Given the description of an element on the screen output the (x, y) to click on. 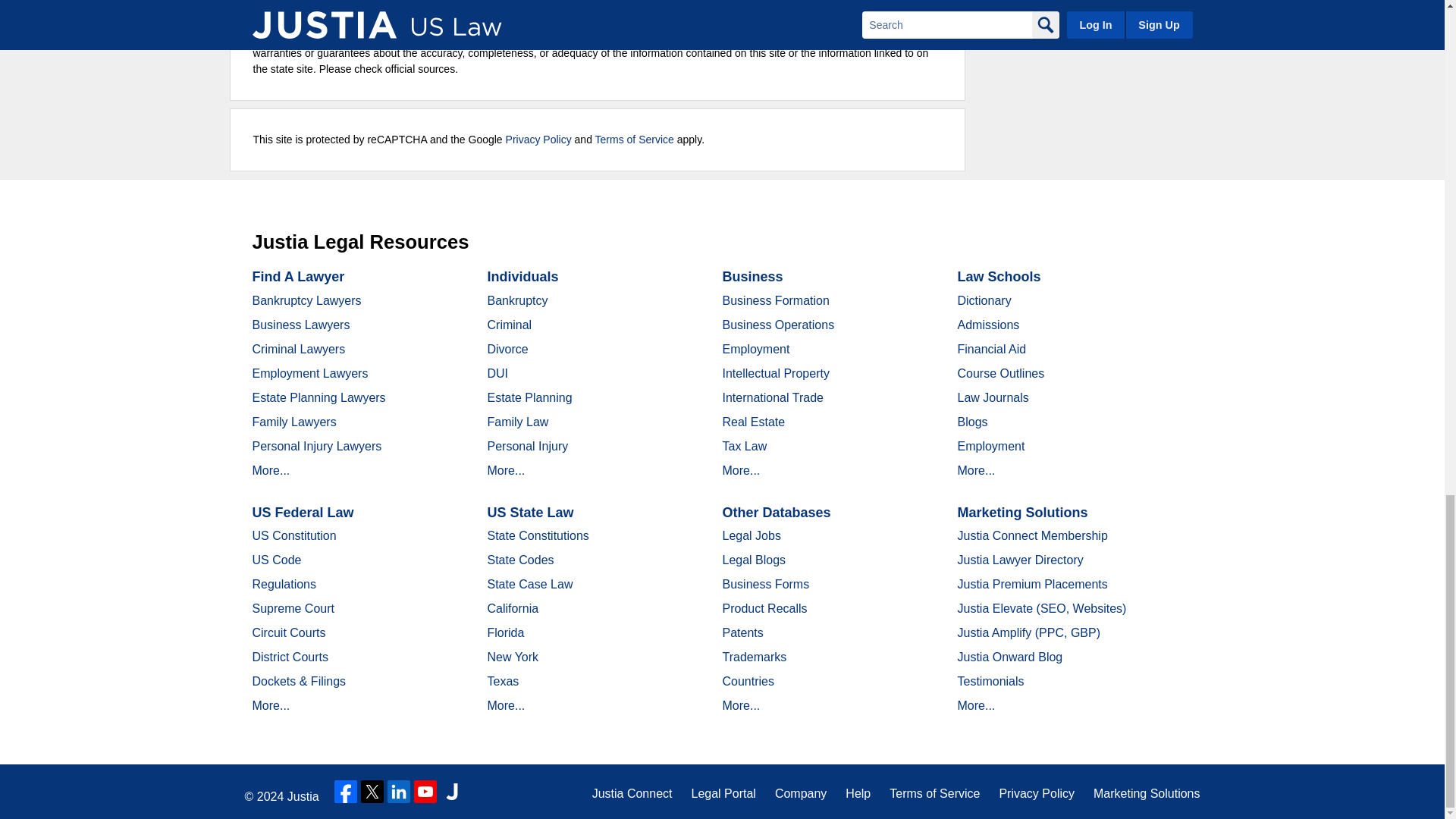
Twitter (372, 791)
LinkedIn (398, 791)
Facebook (345, 791)
